Given the description of an element on the screen output the (x, y) to click on. 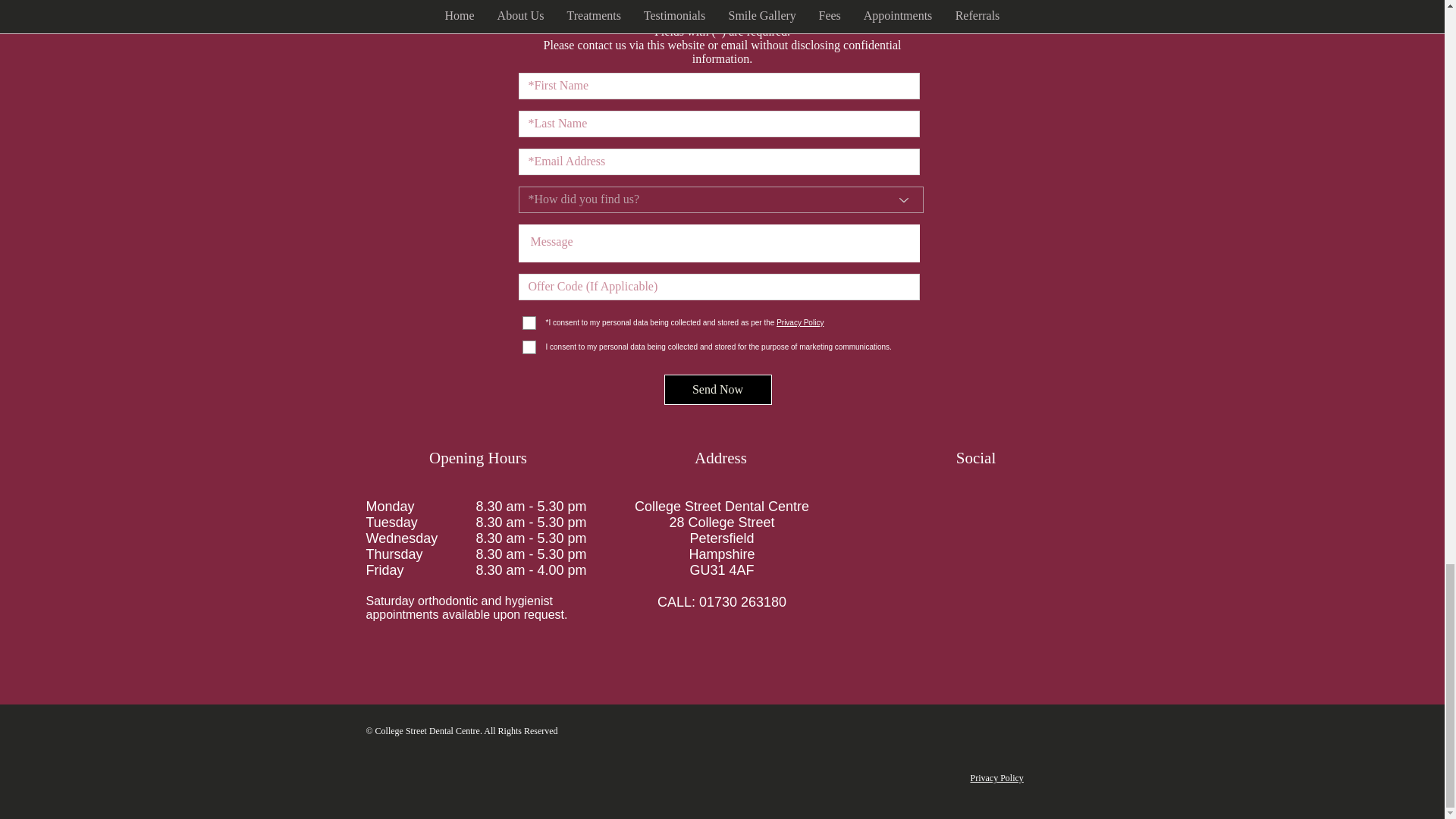
01730 263180 (742, 601)
Privacy Policy (997, 777)
Privacy Policy (799, 322)
Send Now (717, 389)
